Given the description of an element on the screen output the (x, y) to click on. 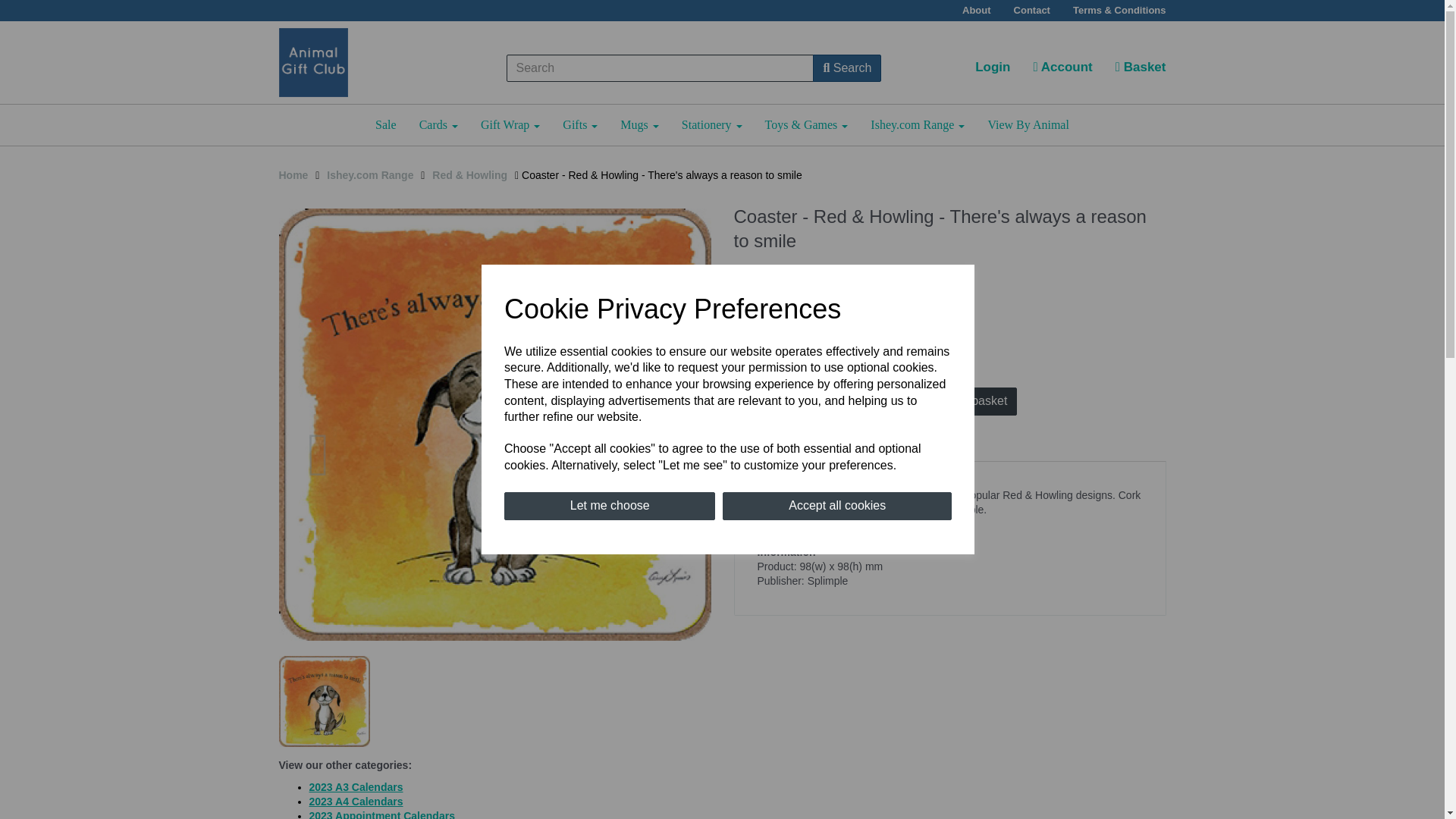
Search (846, 68)
Login (992, 67)
Accept all cookies (837, 506)
Let me choose (608, 506)
Account (1062, 67)
About (976, 10)
Cards (437, 124)
Basket (1140, 67)
1 (815, 400)
Sale (385, 124)
